Given the description of an element on the screen output the (x, y) to click on. 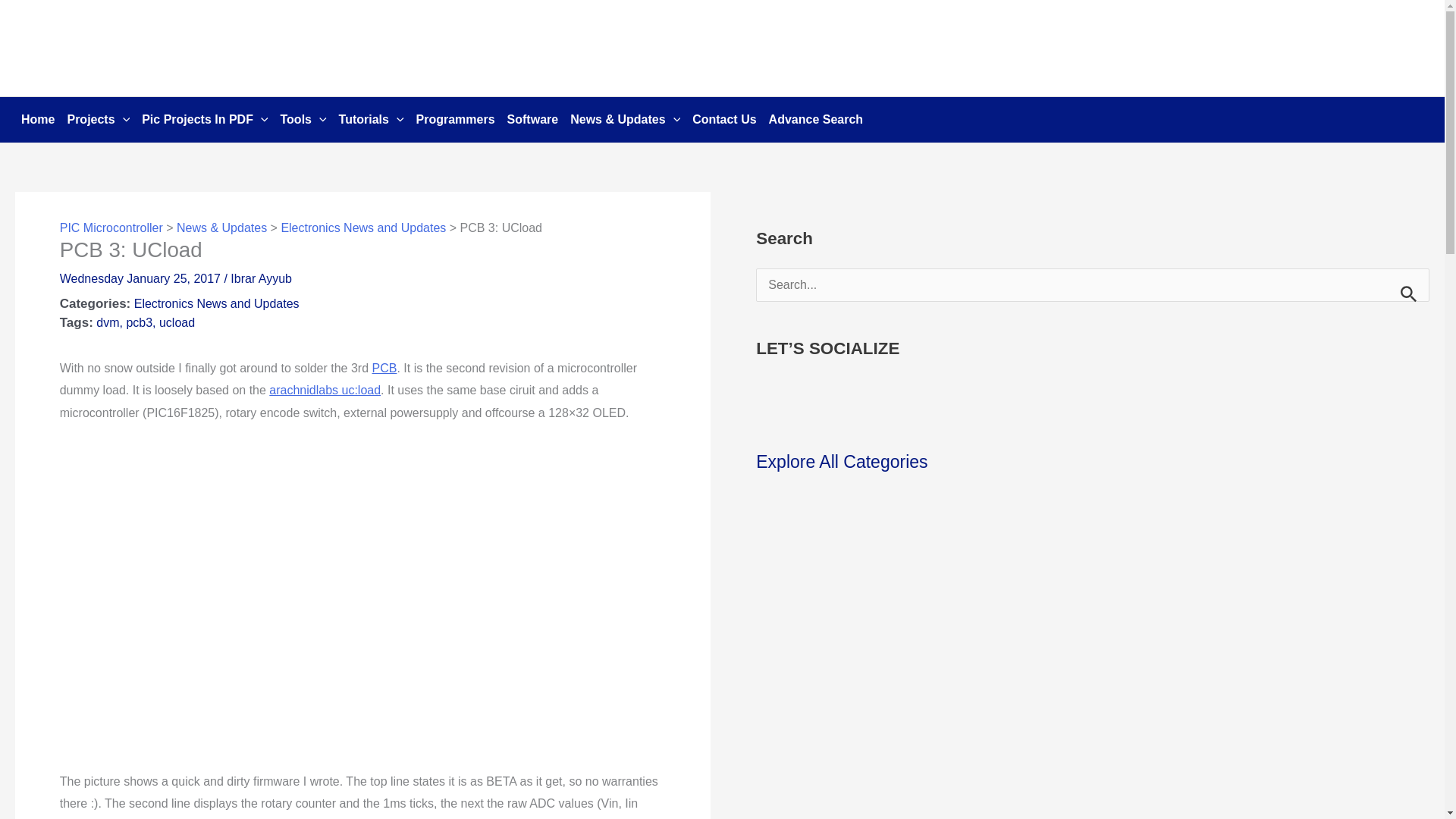
Projects (98, 119)
Pic Projects In PDF (204, 119)
Home (37, 119)
Software (532, 119)
Programmers (455, 119)
Tools (304, 119)
Go to the Electronics News and Updates Category archives. (363, 227)
Go to PIC Microcontroller. (111, 227)
Click to view drop down menu (98, 119)
Tutorials (371, 119)
